Given the description of an element on the screen output the (x, y) to click on. 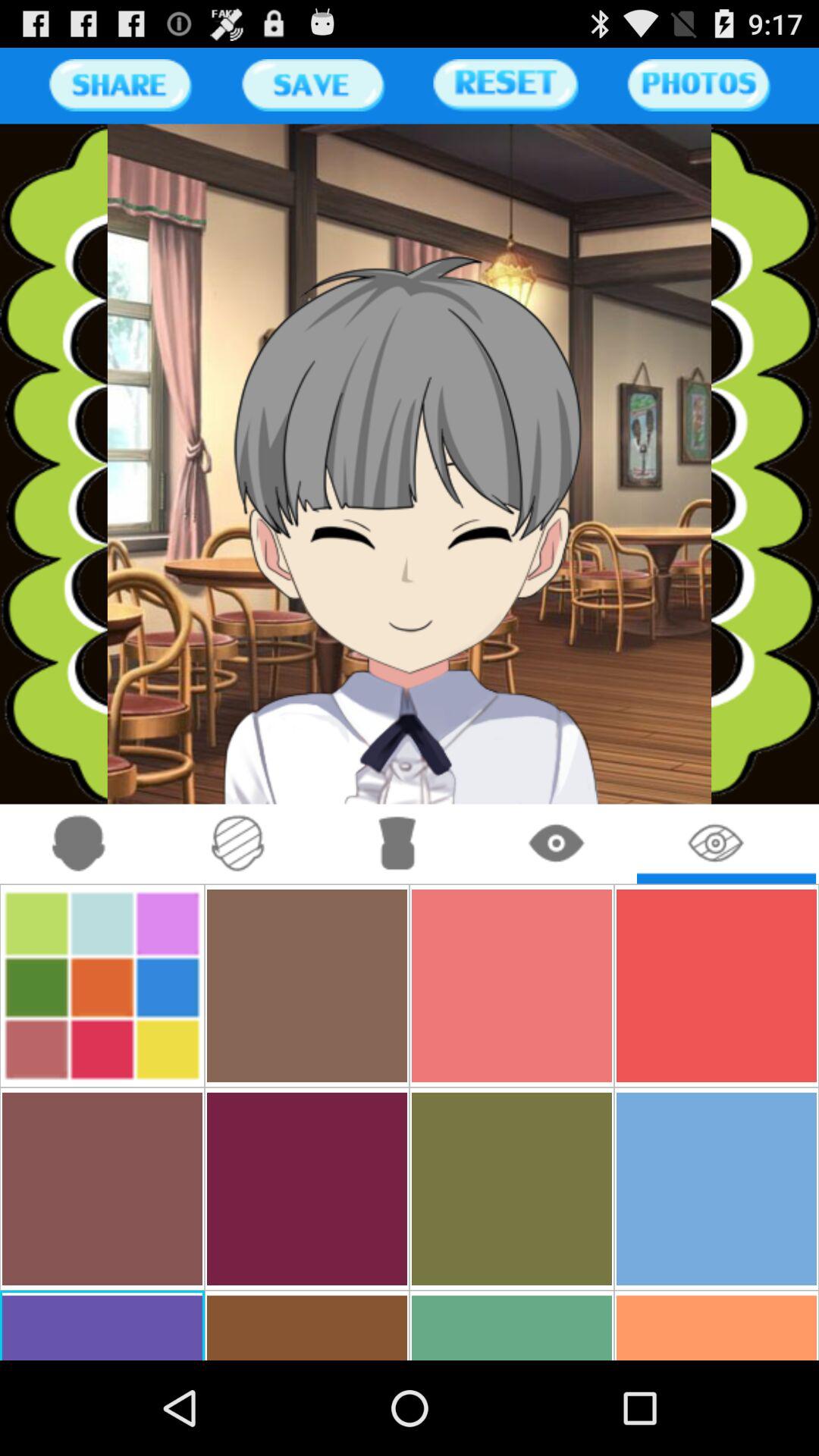
share button (119, 85)
